Given the description of an element on the screen output the (x, y) to click on. 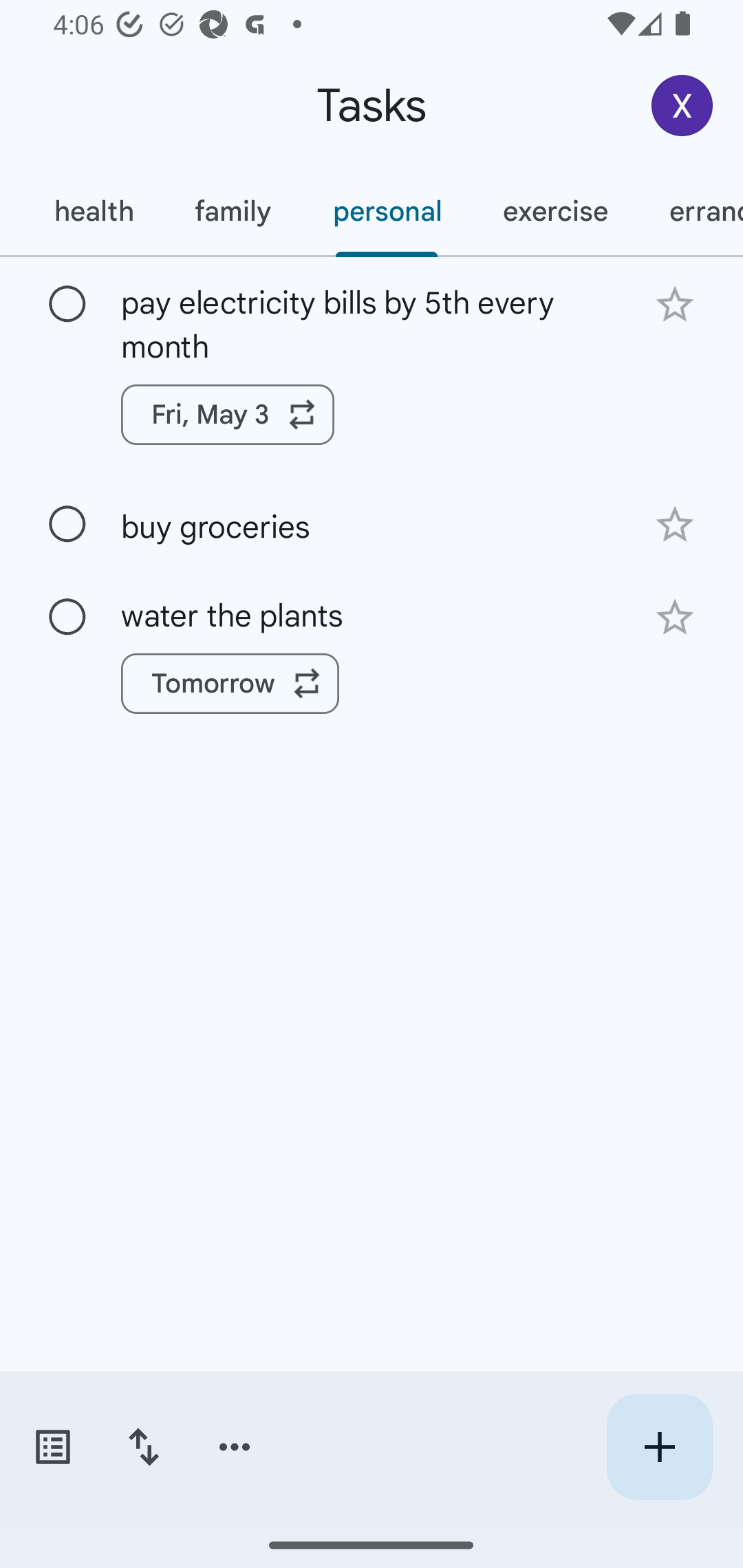
health (93, 211)
family (232, 211)
exercise (554, 211)
errands (690, 211)
Add star (674, 303)
Mark as complete (67, 304)
Fri, May 3 (227, 414)
Add star (674, 524)
Mark as complete (67, 524)
Add star (674, 617)
Mark as complete (67, 616)
Tomorrow (229, 683)
Switch task lists (52, 1447)
Create new task (659, 1446)
Change sort order (143, 1446)
More options (234, 1446)
